Given the description of an element on the screen output the (x, y) to click on. 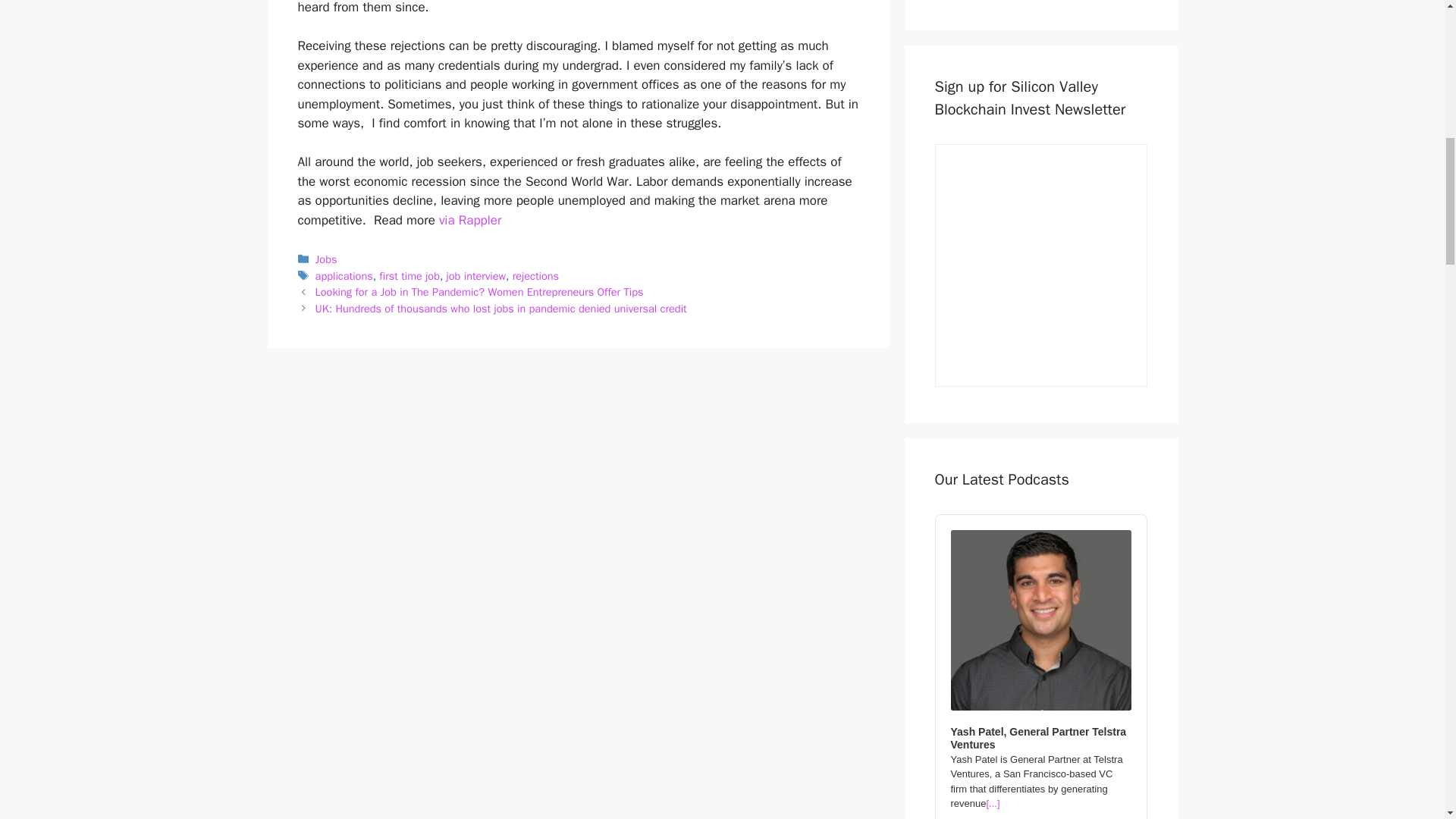
job interview (475, 275)
via Rappler (469, 220)
rejections (535, 275)
Jobs (326, 259)
applications (343, 275)
first time job (408, 275)
